Given the description of an element on the screen output the (x, y) to click on. 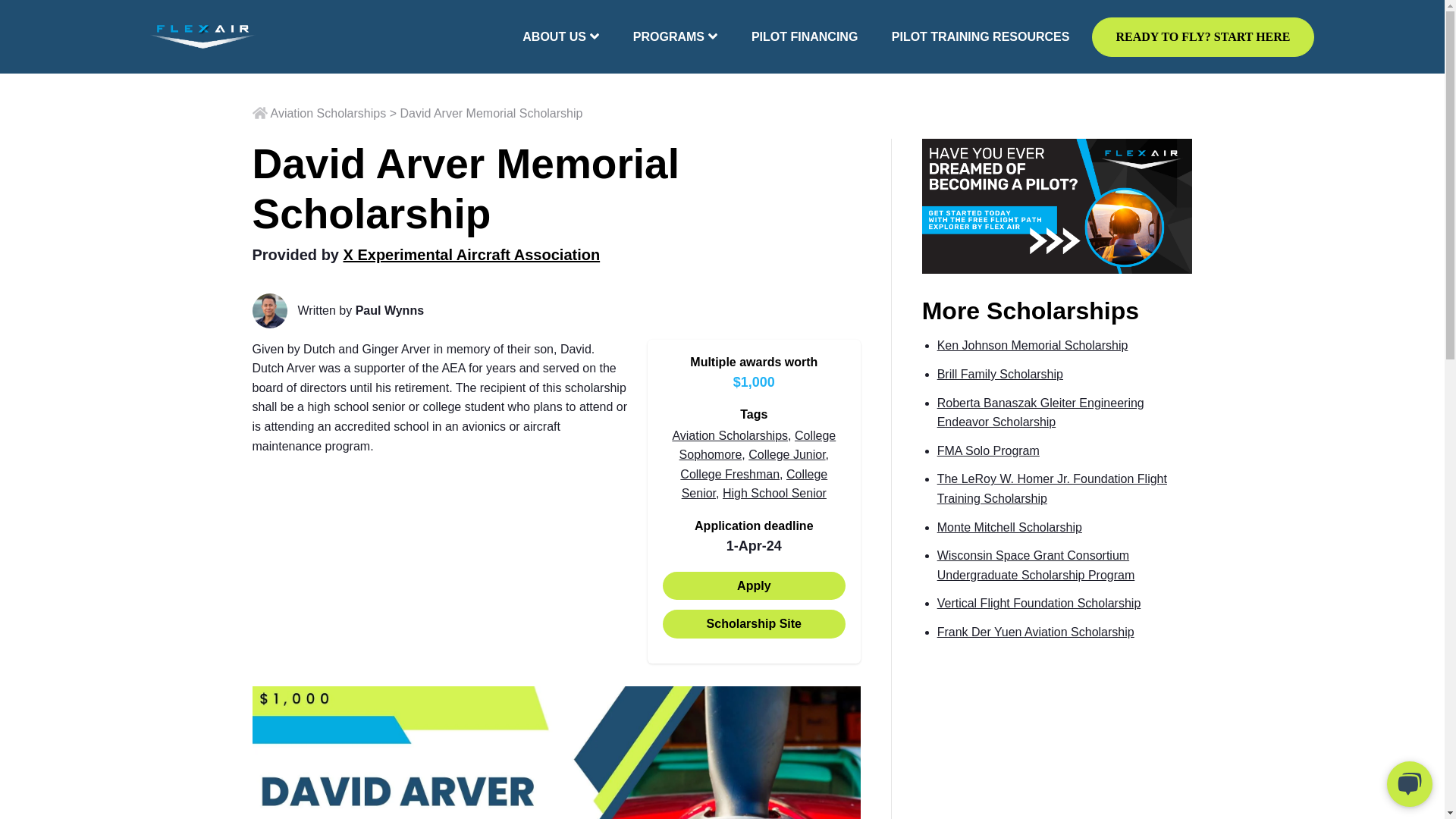
READY TO FLY? START HERE (1202, 36)
High School Senior (774, 492)
College Freshman (728, 473)
College Junior (786, 454)
Monte Mitchell Scholarship (1009, 526)
Ken Johnson Memorial Scholarship (1032, 345)
X Experimental Aircraft Association (471, 254)
Aviation Scholarships (729, 435)
Roberta Banaszak Gleiter Engineering Endeavor Scholarship (1040, 412)
Aviation Scholarships (318, 113)
Vertical Flight Foundation Scholarship (1039, 603)
College Senior (754, 483)
FlexAir (202, 36)
FMA Solo Program (988, 450)
